Given the description of an element on the screen output the (x, y) to click on. 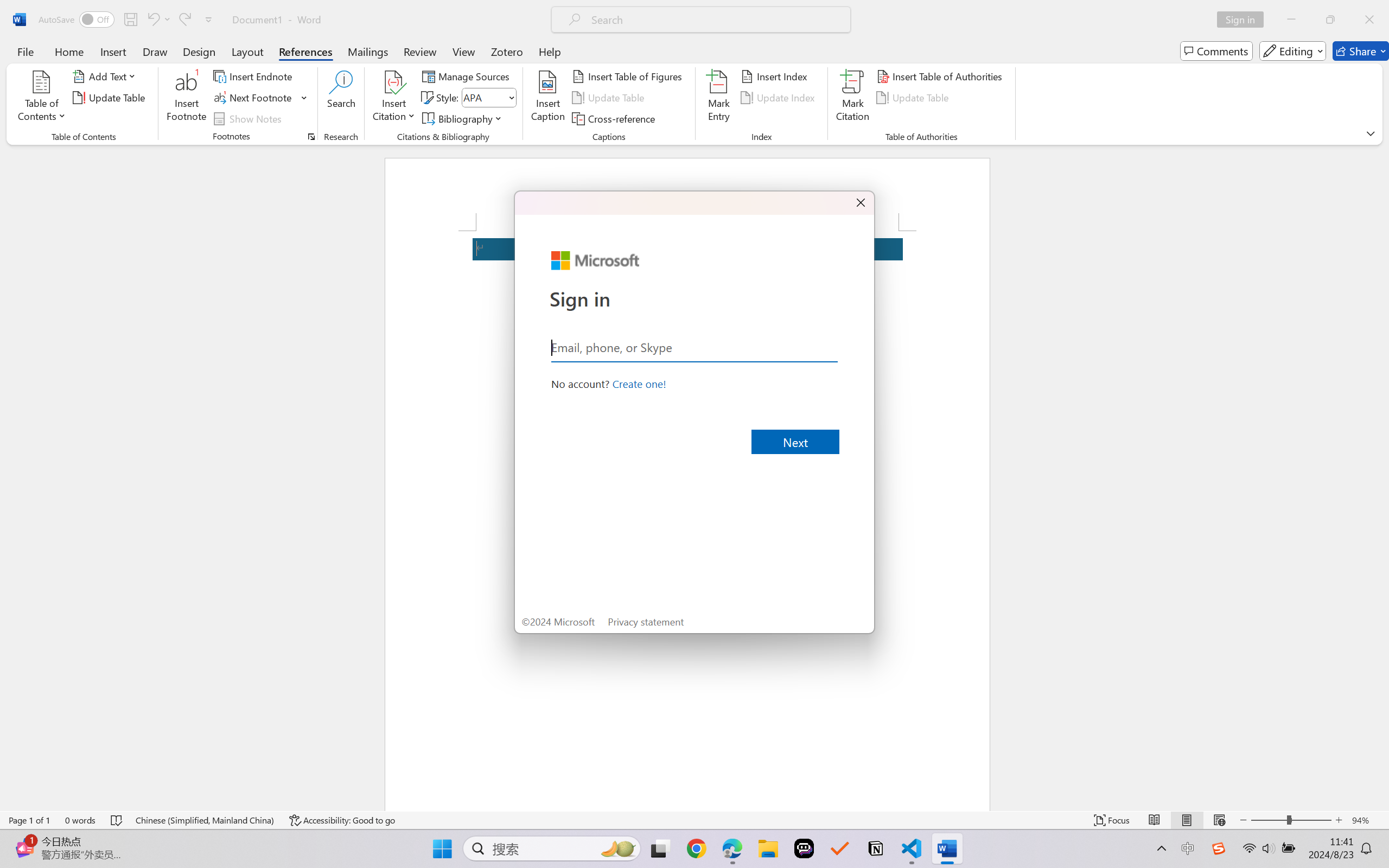
Insert Footnote (186, 97)
Bibliography (463, 118)
Undo Apply Quick Style Set (158, 19)
